Given the description of an element on the screen output the (x, y) to click on. 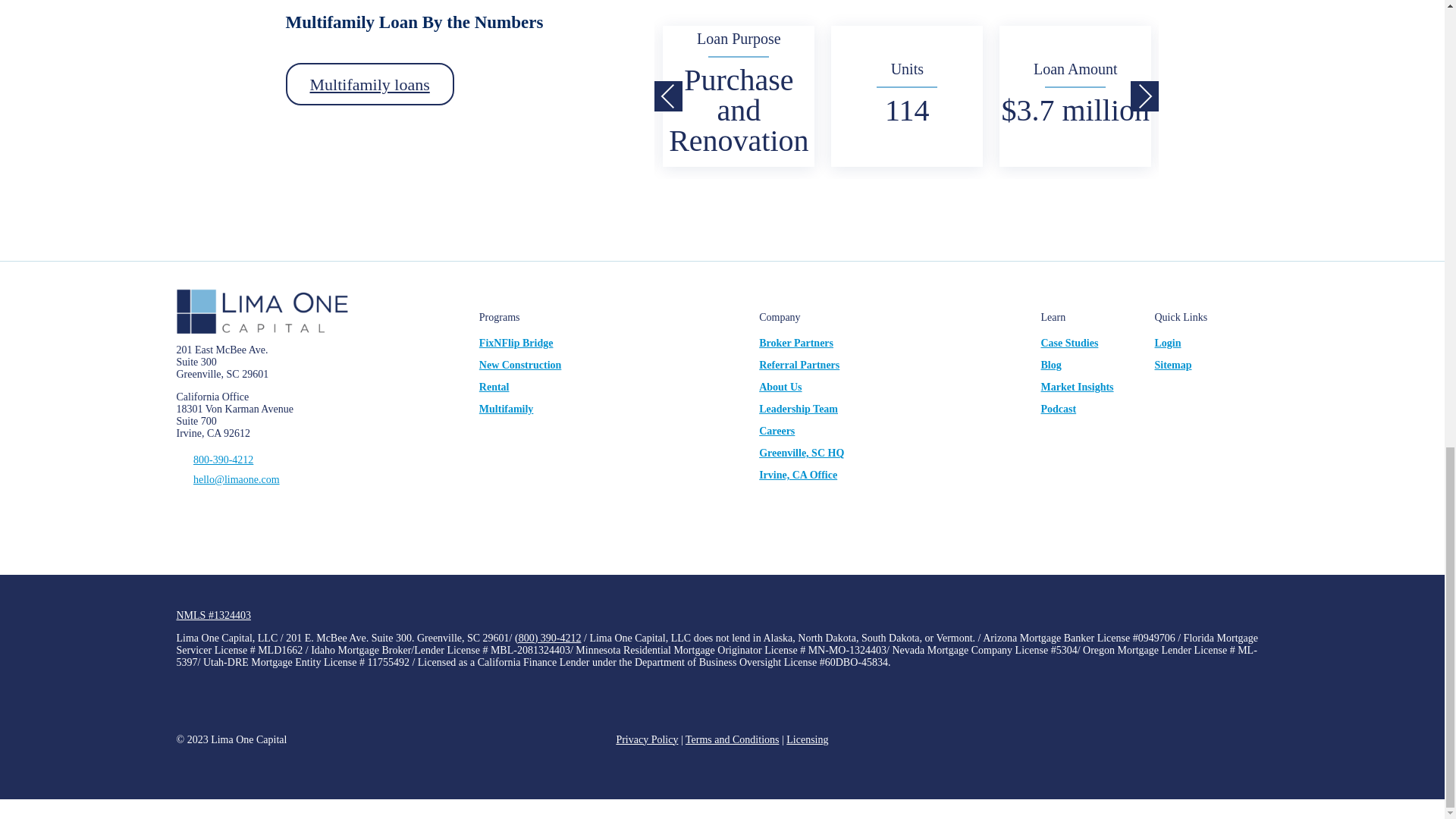
Previous (667, 96)
Multifamily loans (368, 84)
Next (1144, 96)
